Given the description of an element on the screen output the (x, y) to click on. 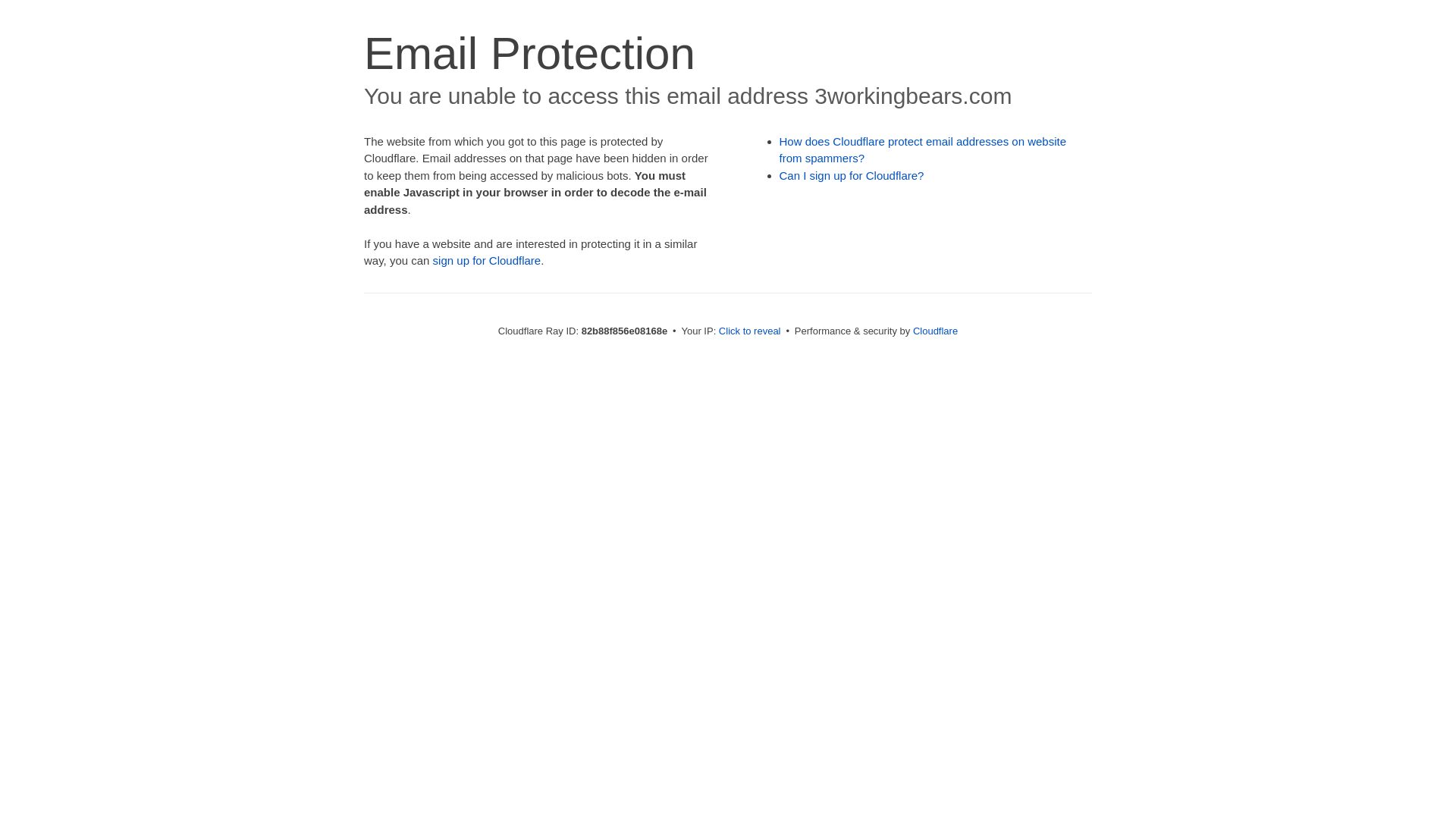
Can I sign up for Cloudflare? Element type: text (851, 175)
Cloudflare Element type: text (935, 330)
Click to reveal Element type: text (749, 330)
sign up for Cloudflare Element type: text (487, 260)
